Given the description of an element on the screen output the (x, y) to click on. 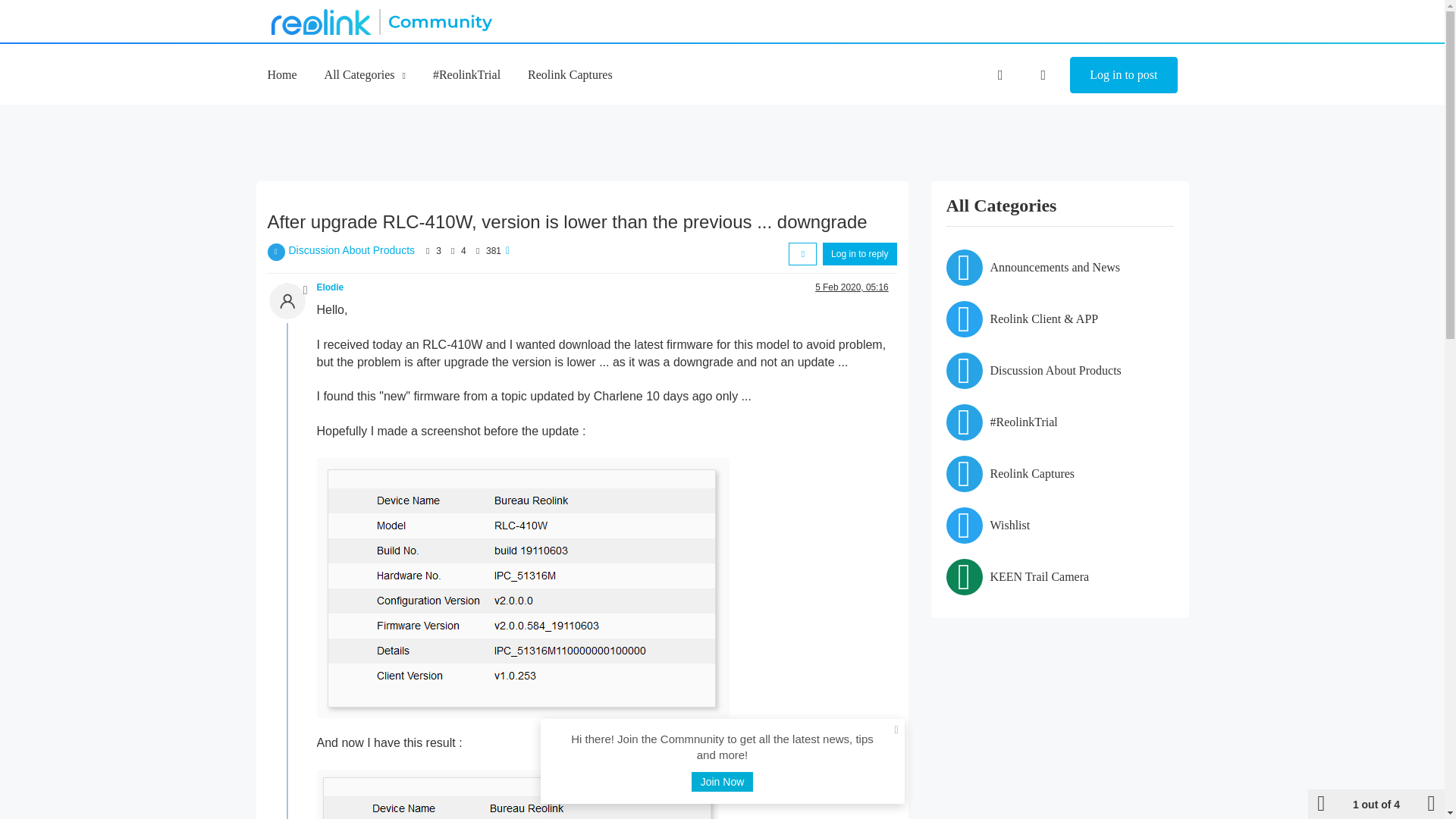
381 (493, 250)
Elodie (330, 286)
Reolink Captures (569, 74)
Home (281, 74)
Discussion About Products (351, 250)
Log in to reply (859, 253)
Posters (427, 250)
5 Feb 2020, 05:16 (851, 286)
Log in to post (1123, 75)
Views (477, 250)
